Given the description of an element on the screen output the (x, y) to click on. 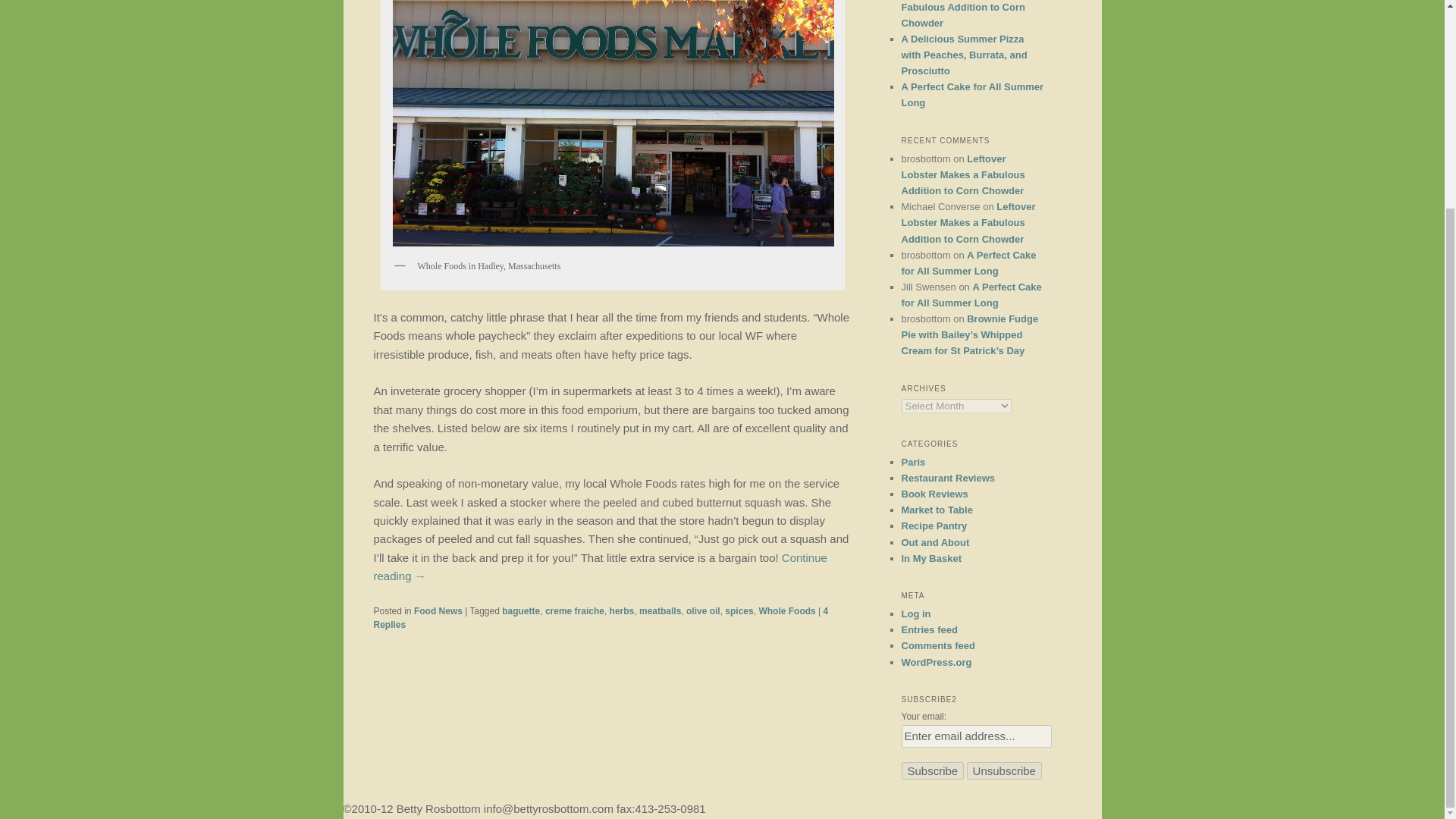
View all posts filed under Paris (935, 542)
Leftover Lobster Makes a Fabulous Addition to Corn Chowder (963, 174)
View all posts filed under Paris (912, 461)
View all posts filed under in my basket (930, 558)
herbs (622, 611)
View all posts filed under Paris (936, 509)
baguette (521, 611)
View all posts filed under Book Reviews (934, 493)
Whole Foods (786, 611)
